Given the description of an element on the screen output the (x, y) to click on. 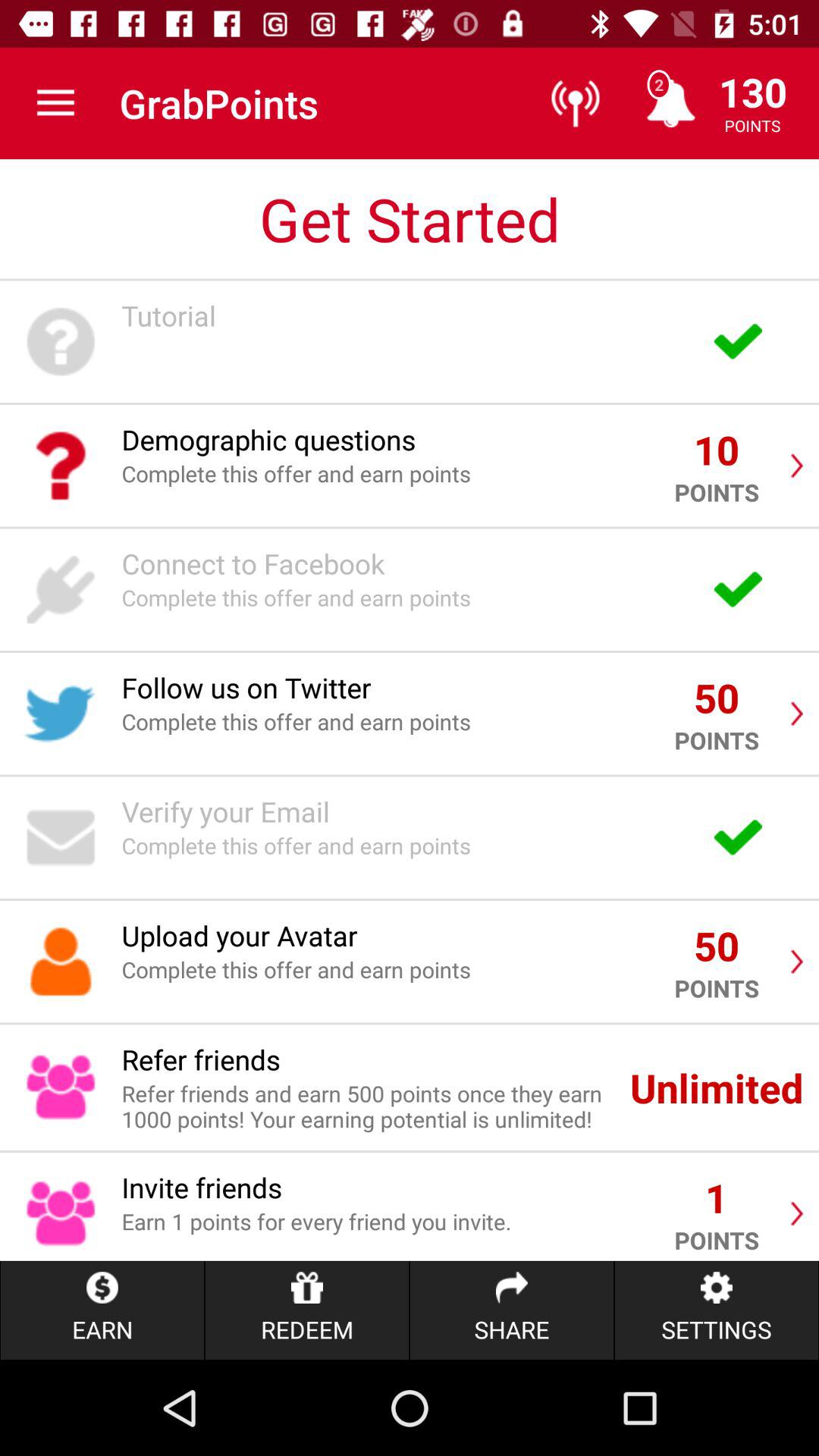
swipe until the settings item (716, 1310)
